Given the description of an element on the screen output the (x, y) to click on. 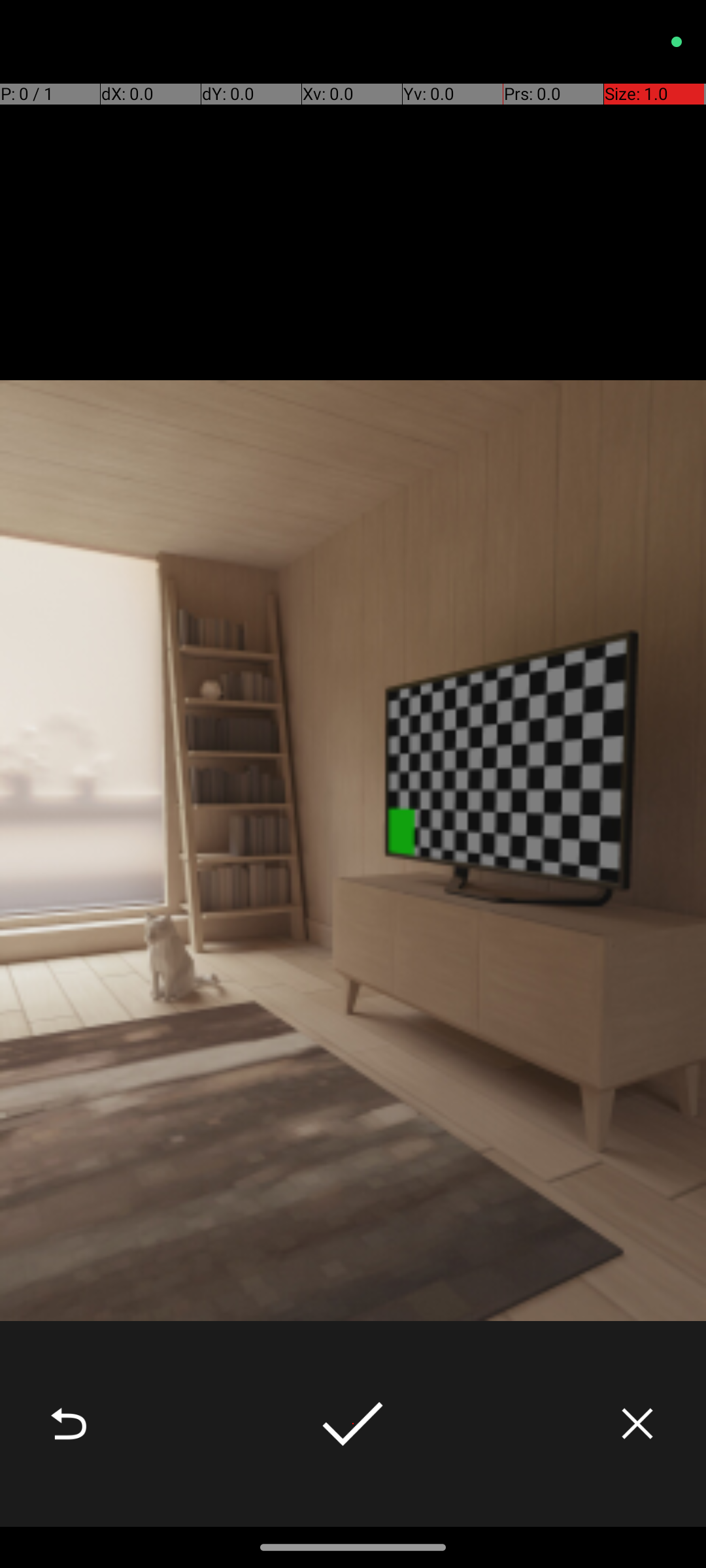
Retake Element type: android.widget.ImageButton (68, 1423)
